Given the description of an element on the screen output the (x, y) to click on. 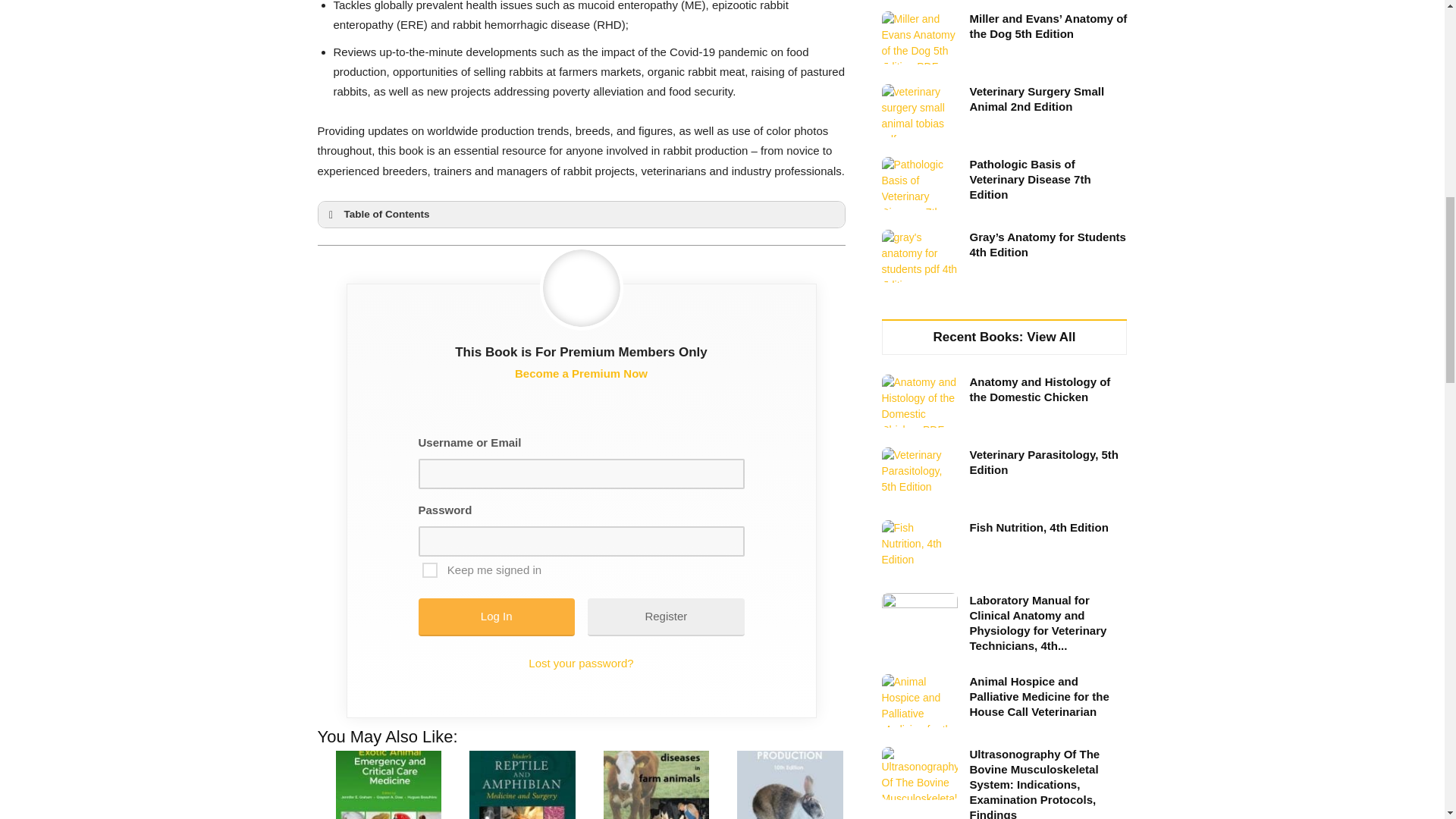
forever (429, 570)
Exotic Animal Emergency and Critical Care Medicine (387, 785)
Log In (497, 617)
